Given the description of an element on the screen output the (x, y) to click on. 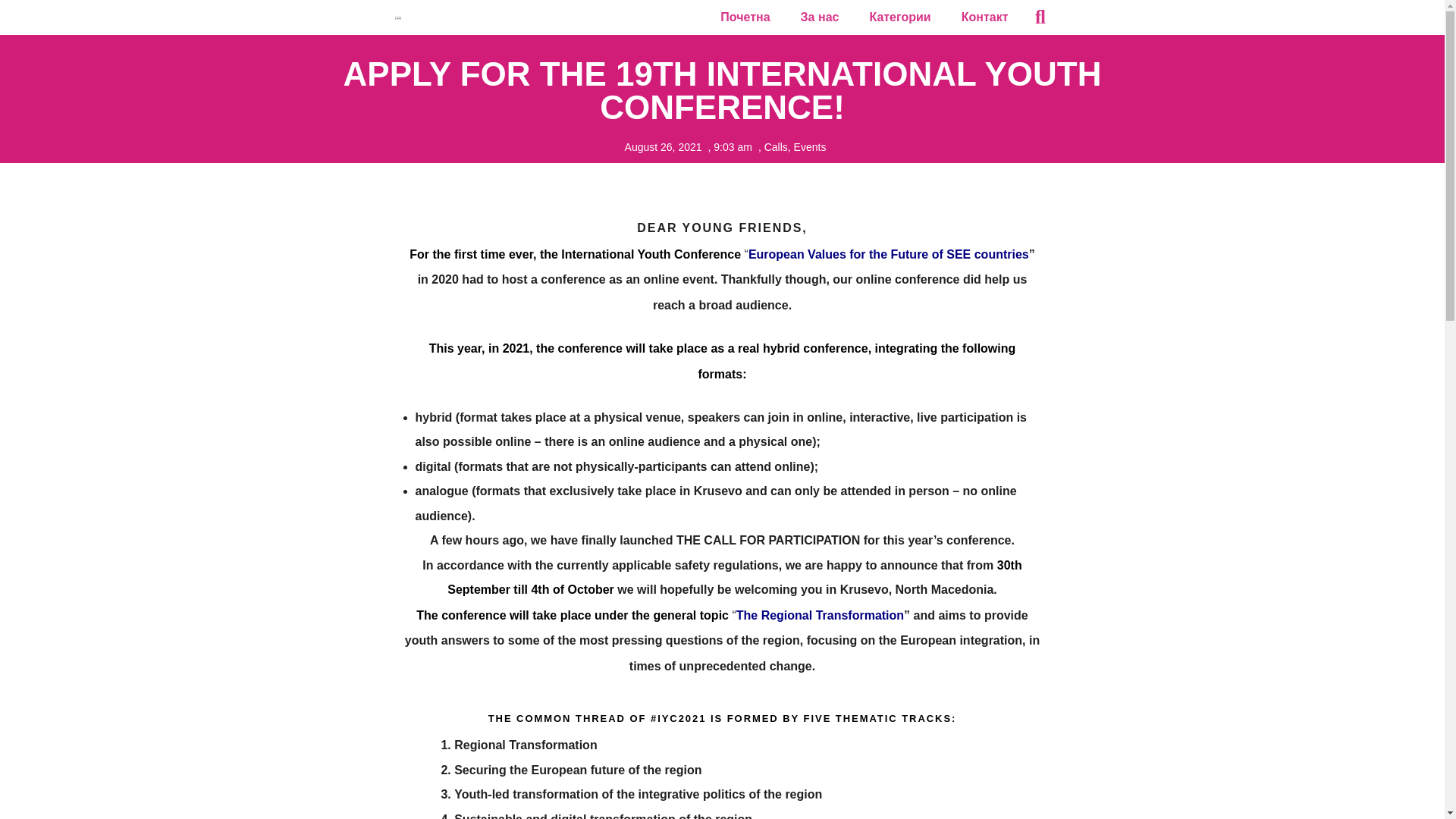
Events (810, 146)
August 26, 2021 (659, 147)
Calls (775, 146)
